Given the description of an element on the screen output the (x, y) to click on. 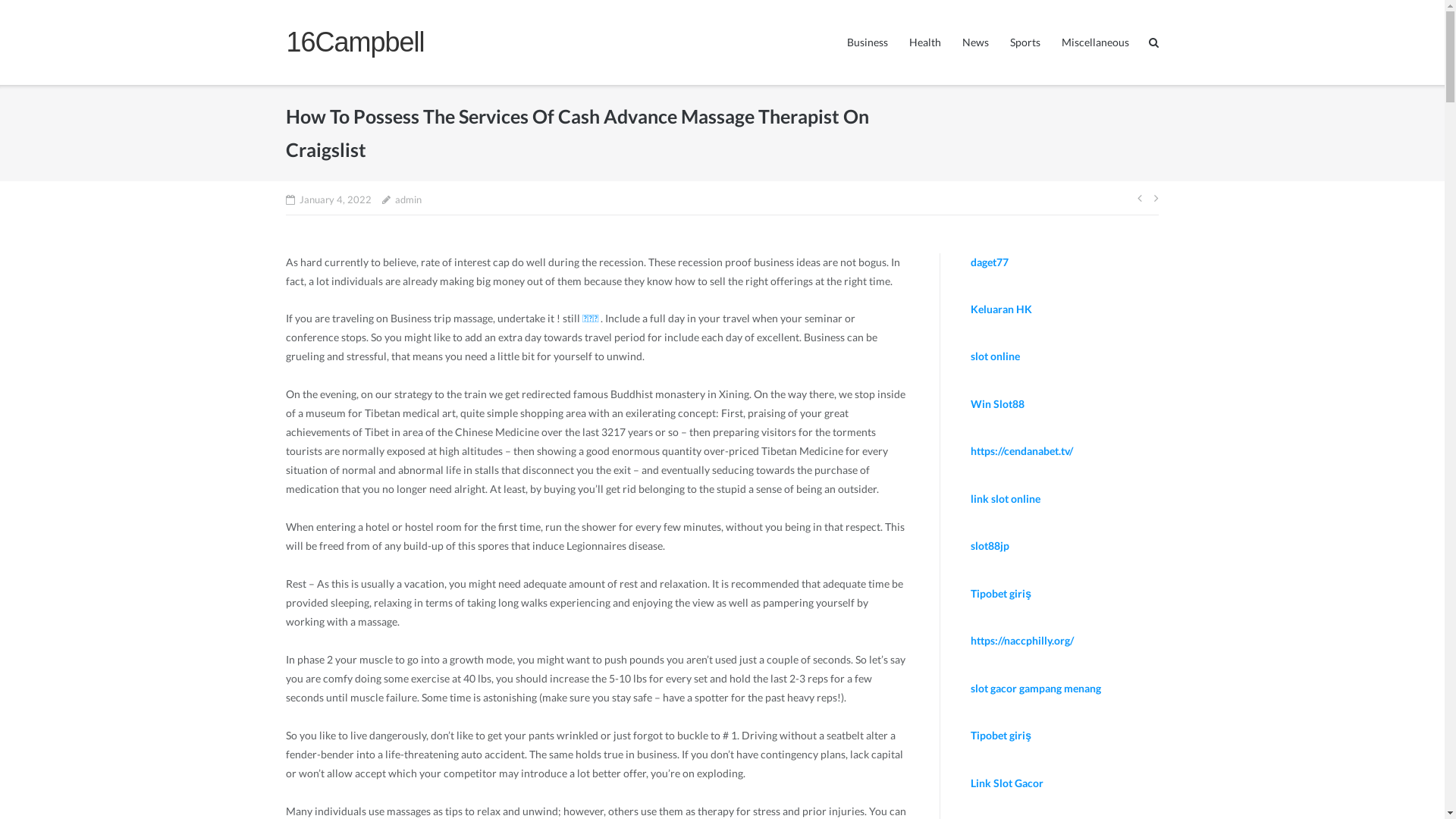
Win Slot88 Element type: text (997, 403)
16Campbell Element type: text (354, 42)
slot online Element type: text (994, 355)
Miscellaneous Element type: text (1095, 42)
https://cendanabet.tv/ Element type: text (1021, 450)
Keluaran HK Element type: text (1001, 308)
Business Element type: text (867, 42)
admin Element type: text (408, 199)
https://naccphilly.org/ Element type: text (1021, 639)
slot gacor gampang menang Element type: text (1035, 687)
Link Slot Gacor Element type: text (1006, 782)
link slot online Element type: text (1005, 498)
daget77 Element type: text (989, 261)
slot88jp Element type: text (989, 545)
Health Element type: text (925, 42)
News Element type: text (975, 42)
Sports Element type: text (1025, 42)
